Given the description of an element on the screen output the (x, y) to click on. 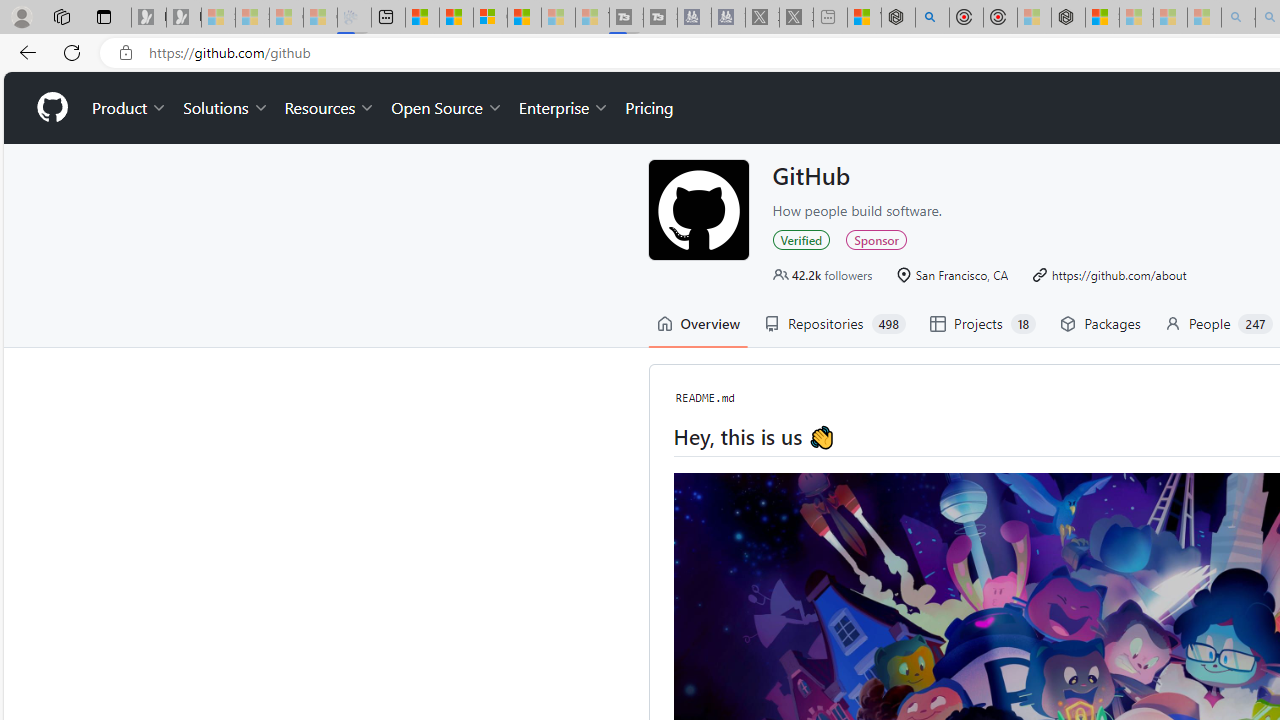
Enterprise (563, 107)
Open Source (446, 107)
Overview (489, 17)
Packages (1100, 323)
Open Source (446, 107)
Resources (330, 107)
Sponsor (876, 239)
Enterprise (563, 107)
